Given the description of an element on the screen output the (x, y) to click on. 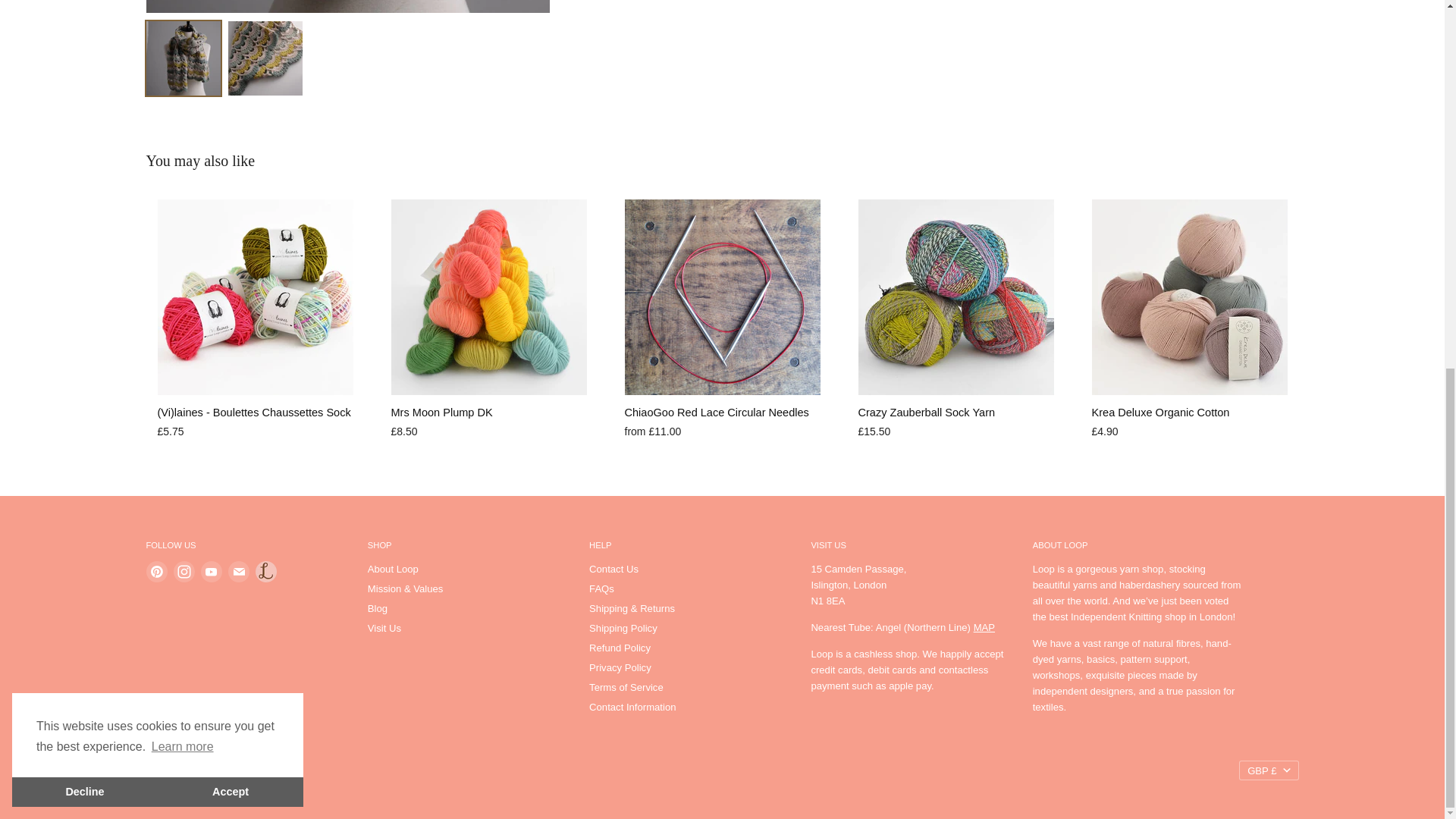
Instagram (183, 571)
Decline (84, 126)
Youtube (210, 571)
E-mail (237, 571)
Accept (229, 126)
Pinterest (156, 571)
Learn more (182, 81)
